Given the description of an element on the screen output the (x, y) to click on. 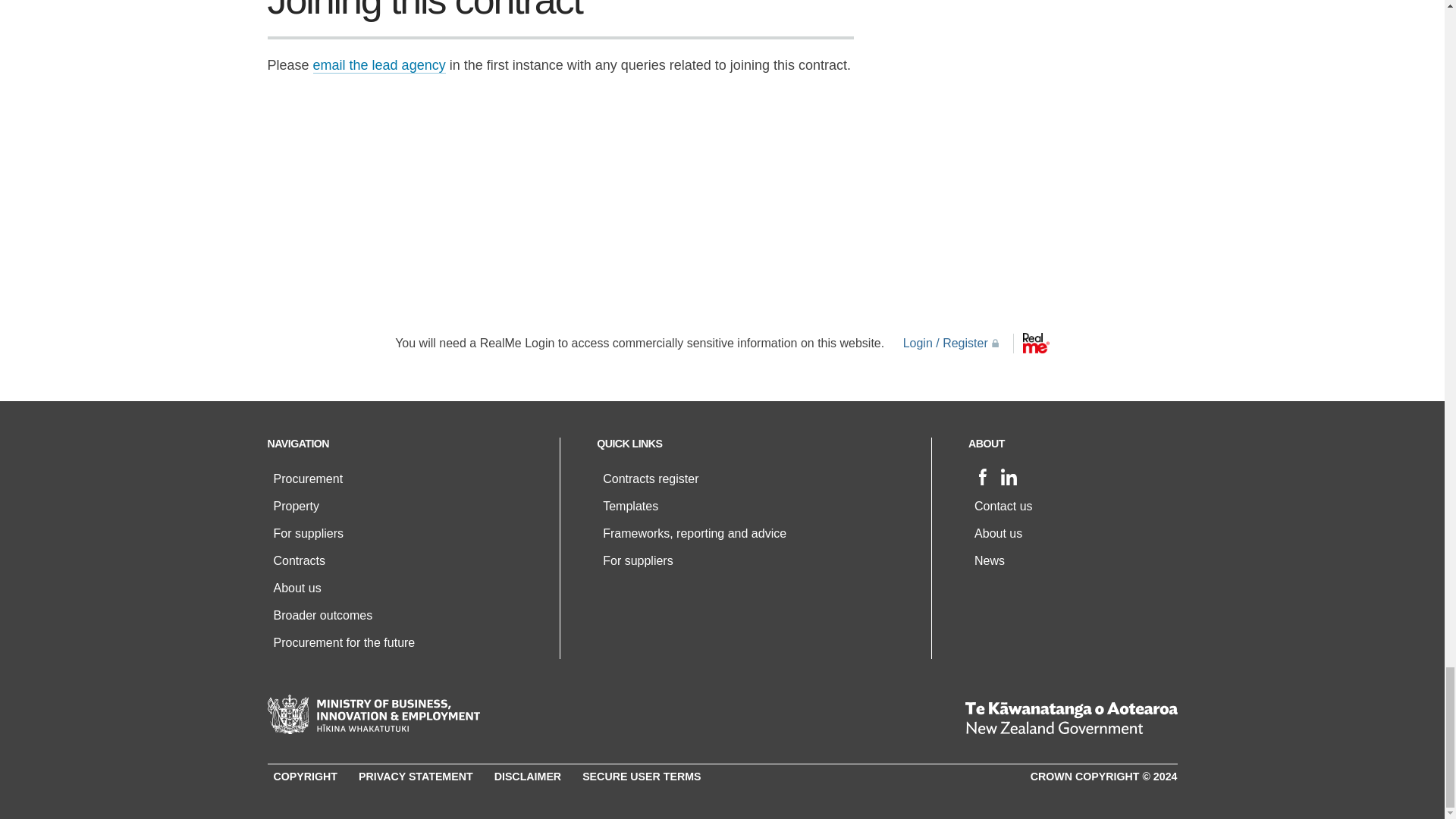
Procurement (307, 478)
email the lead agency (379, 65)
For suppliers (307, 533)
Property (295, 505)
